Given the description of an element on the screen output the (x, y) to click on. 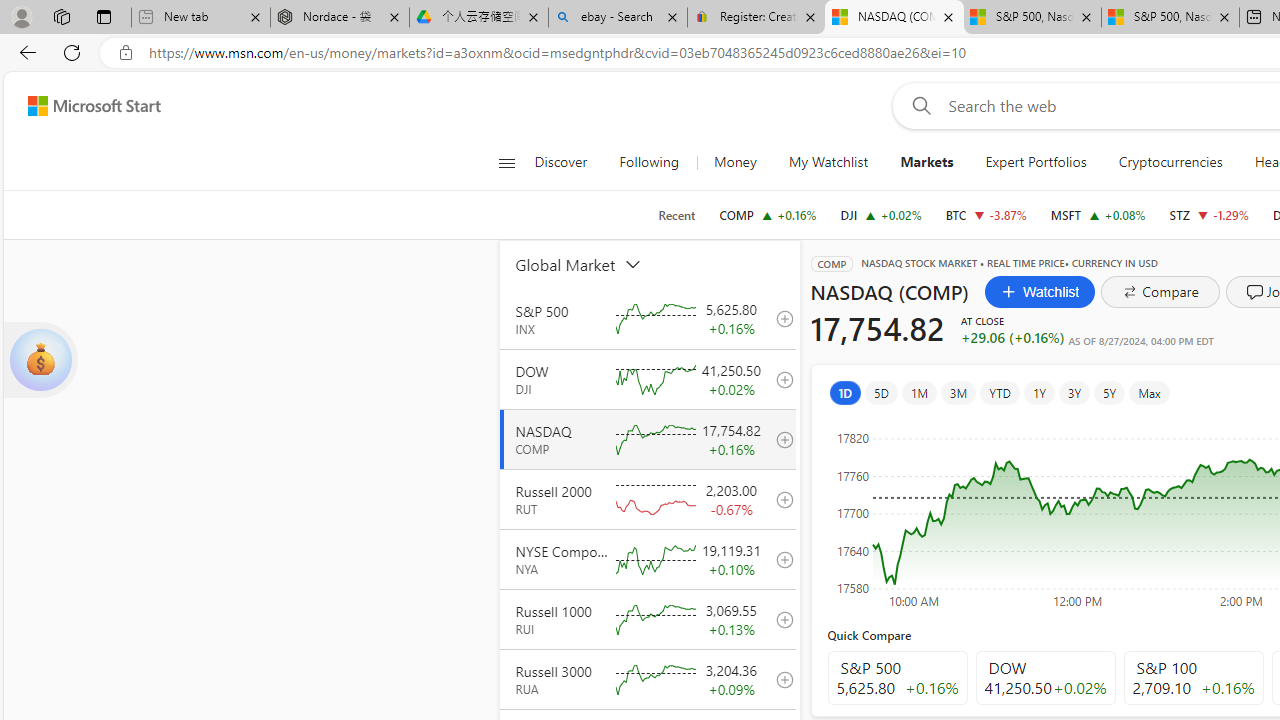
BTC Bitcoin decrease 60,043.79 -2,323.69 -3.87% (986, 214)
COMP NASDAQ increase 17,754.82 +29.06 +0.16% (767, 214)
S&P 500, Nasdaq end lower, weighed by Nvidia dip | Watch (1170, 17)
DJI DOW increase 41,250.50 +9.98 +0.02% (881, 214)
1Y (1038, 392)
My Watchlist (828, 162)
Recent (676, 215)
1M (919, 392)
